Given the description of an element on the screen output the (x, y) to click on. 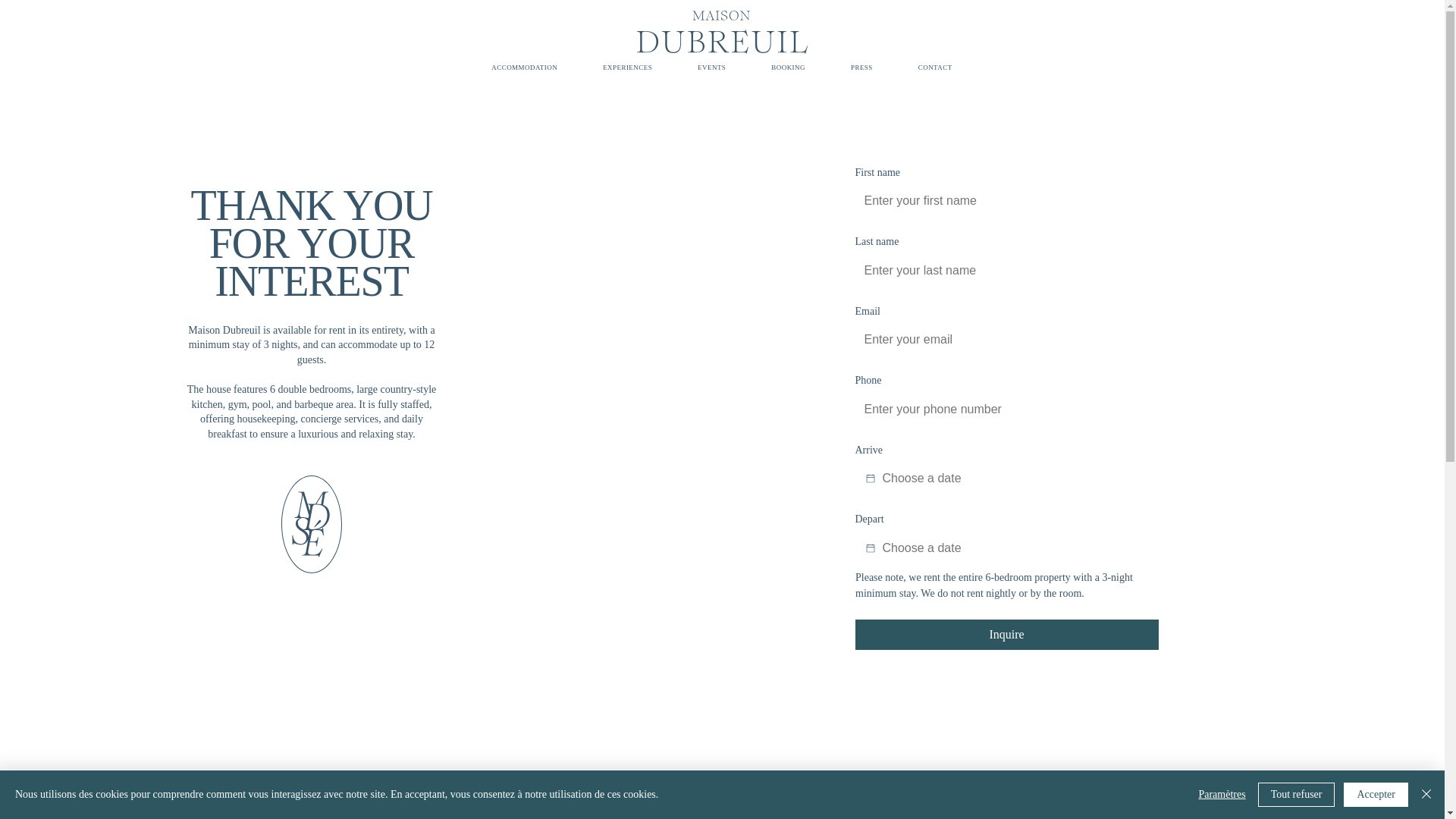
EXPERIENCES (627, 67)
Accepter (1375, 794)
Tout refuser (1296, 794)
BOOKING (788, 67)
Inquire (1007, 634)
ACCOMMODATION (524, 67)
PRESS (861, 67)
CONTACT (935, 67)
EVENTS (711, 67)
